Given the description of an element on the screen output the (x, y) to click on. 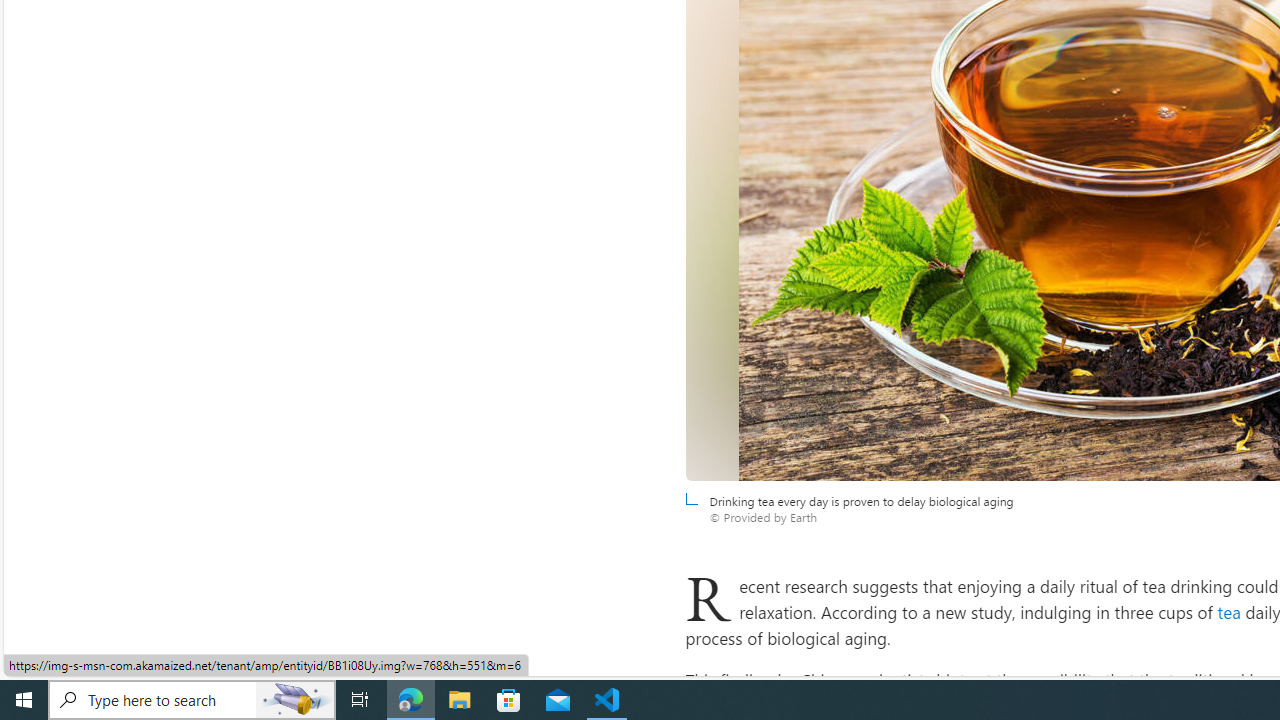
tea (1229, 611)
